Given the description of an element on the screen output the (x, y) to click on. 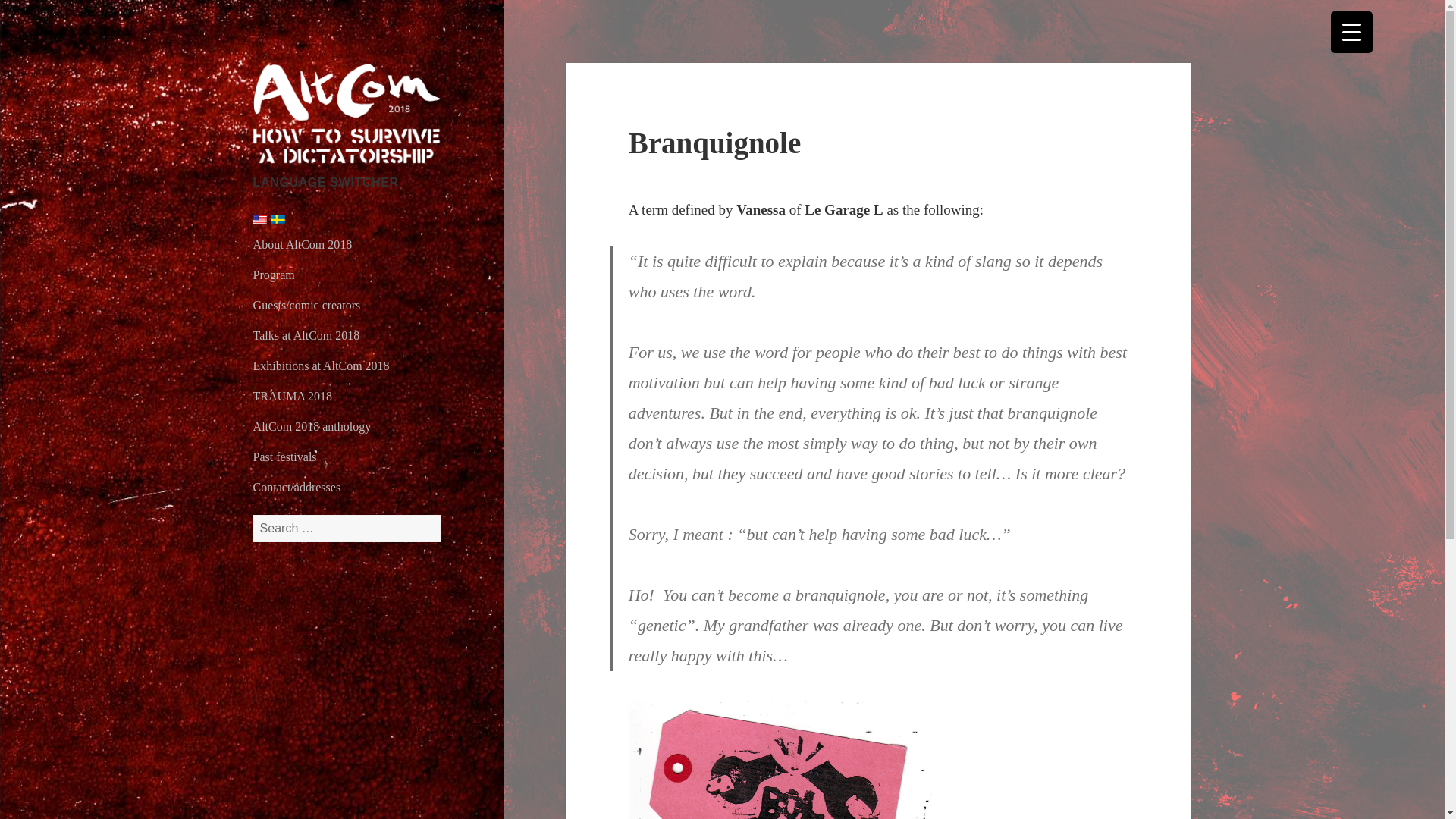
Program (274, 274)
Talks at AltCom 2018 (306, 335)
About AltCom 2018 (302, 244)
TRAUMA 2018 (292, 395)
AltCom 2018 anthology (312, 426)
Exhibitions at AltCom 2018 (321, 365)
Past festivals (285, 456)
